Given the description of an element on the screen output the (x, y) to click on. 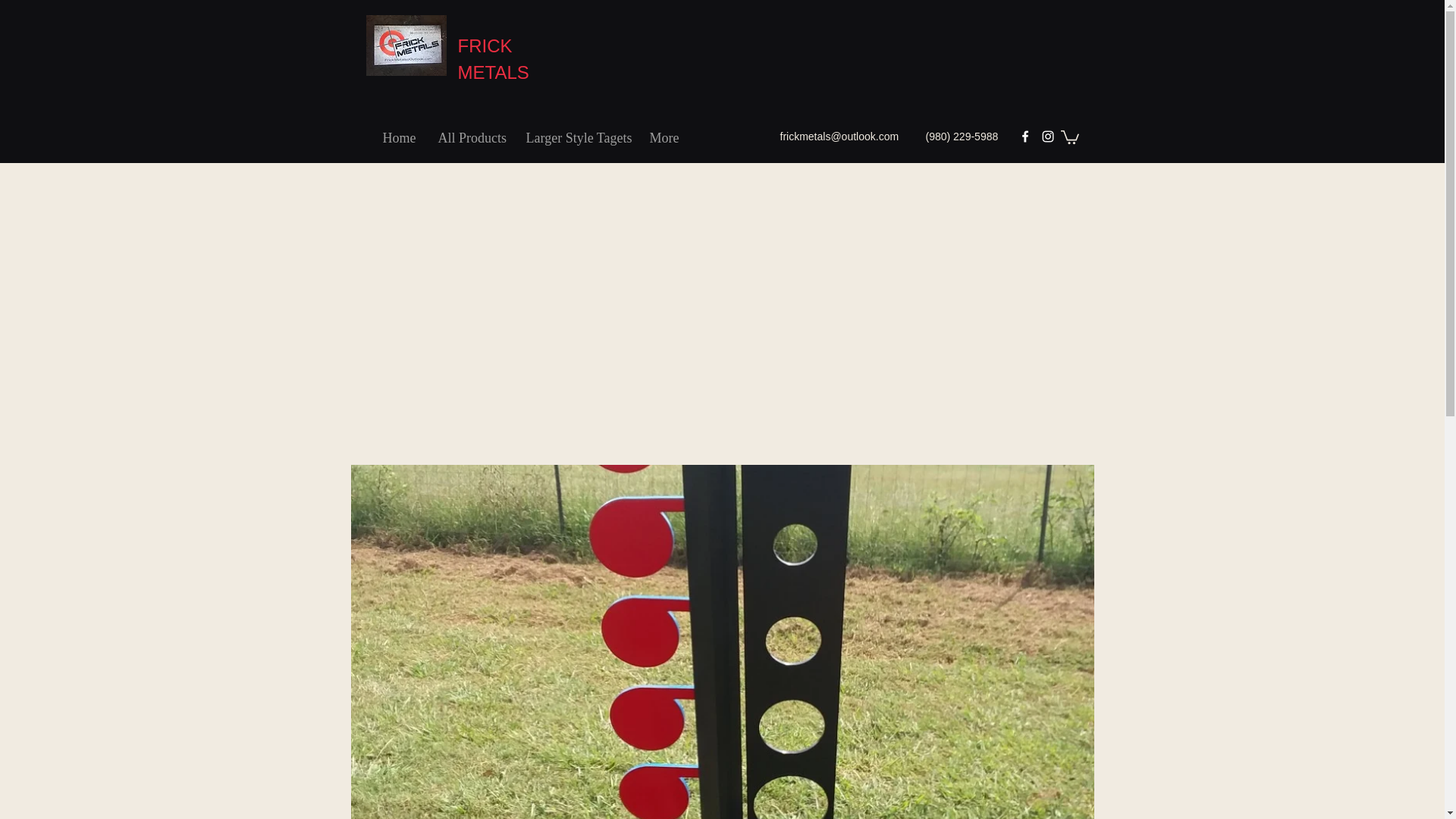
Larger Style Tagets (575, 138)
All Products (469, 138)
Home (398, 138)
